Given the description of an element on the screen output the (x, y) to click on. 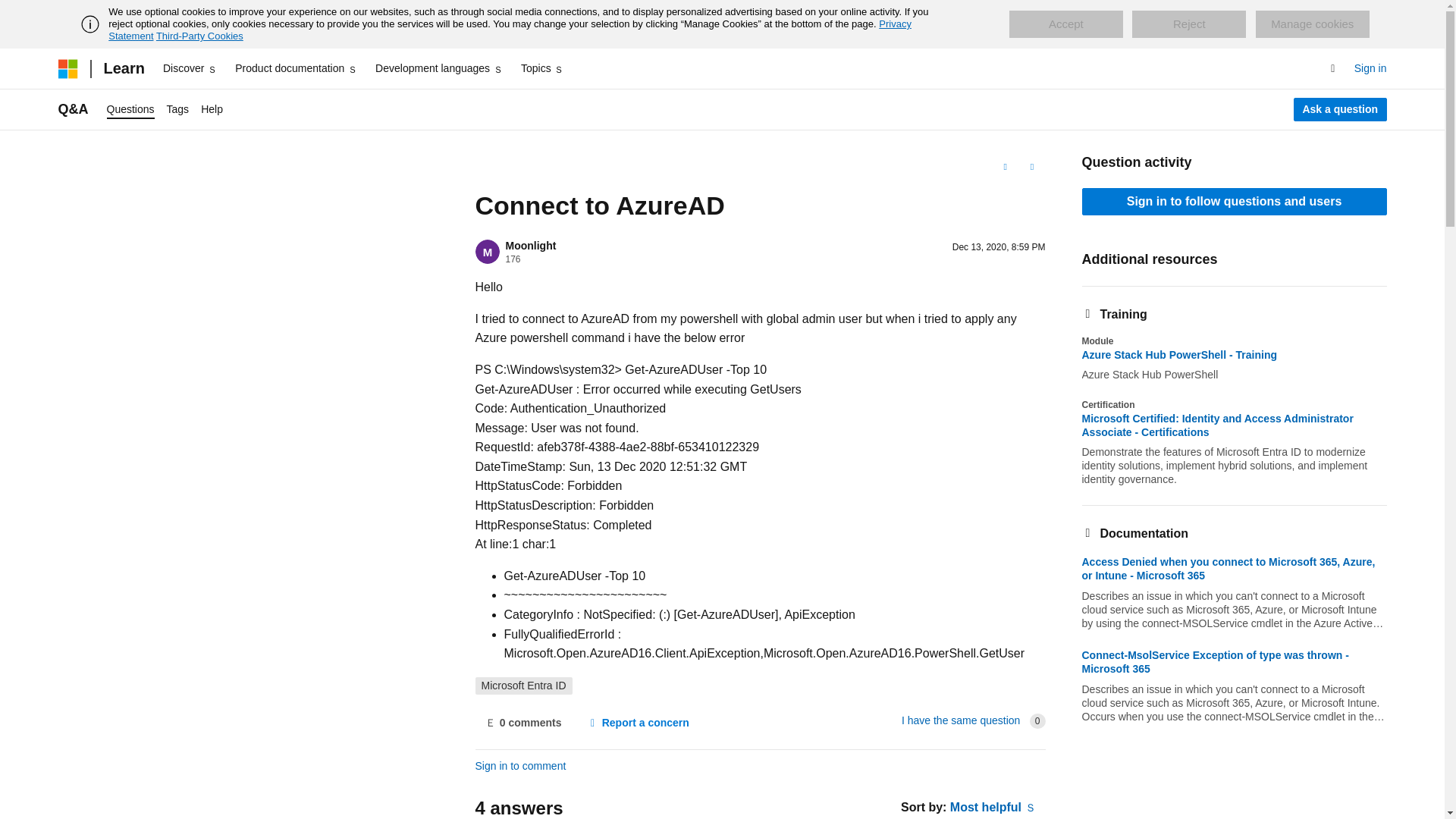
Ask a question (1340, 109)
Accept (1065, 23)
Manage cookies (1312, 23)
Discover (189, 68)
Sign in (1370, 68)
Reject (1189, 23)
You have the same or similar question (960, 720)
Moonlight (530, 245)
Share this question (1031, 166)
Topics (542, 68)
Third-Party Cookies (199, 35)
Tags (177, 109)
Report a concern (637, 723)
Skip to main content (11, 11)
Questions (130, 109)
